Given the description of an element on the screen output the (x, y) to click on. 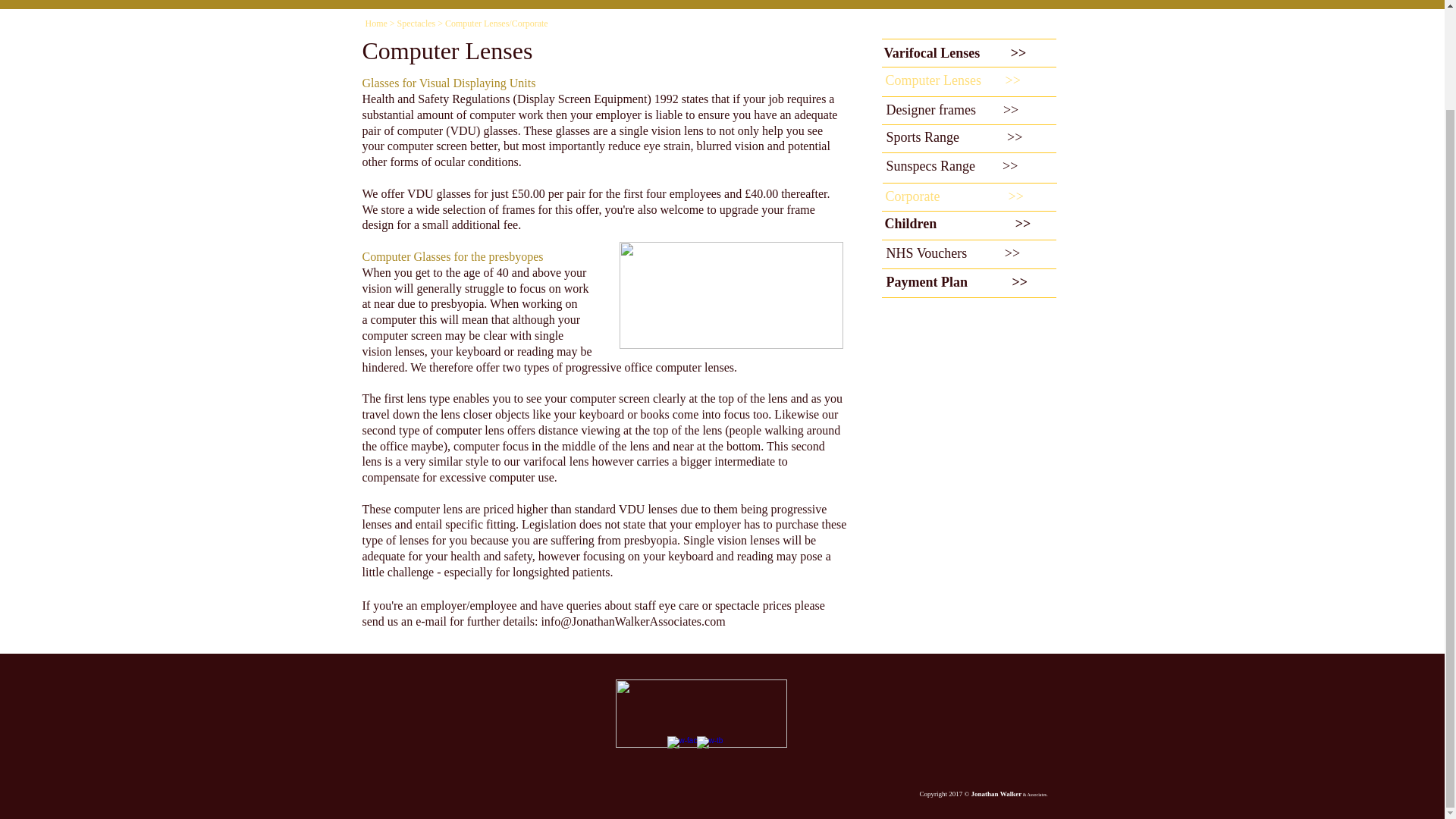
Home (376, 23)
eye care (678, 604)
Home (459, 0)
Spectacles (416, 23)
